Given the description of an element on the screen output the (x, y) to click on. 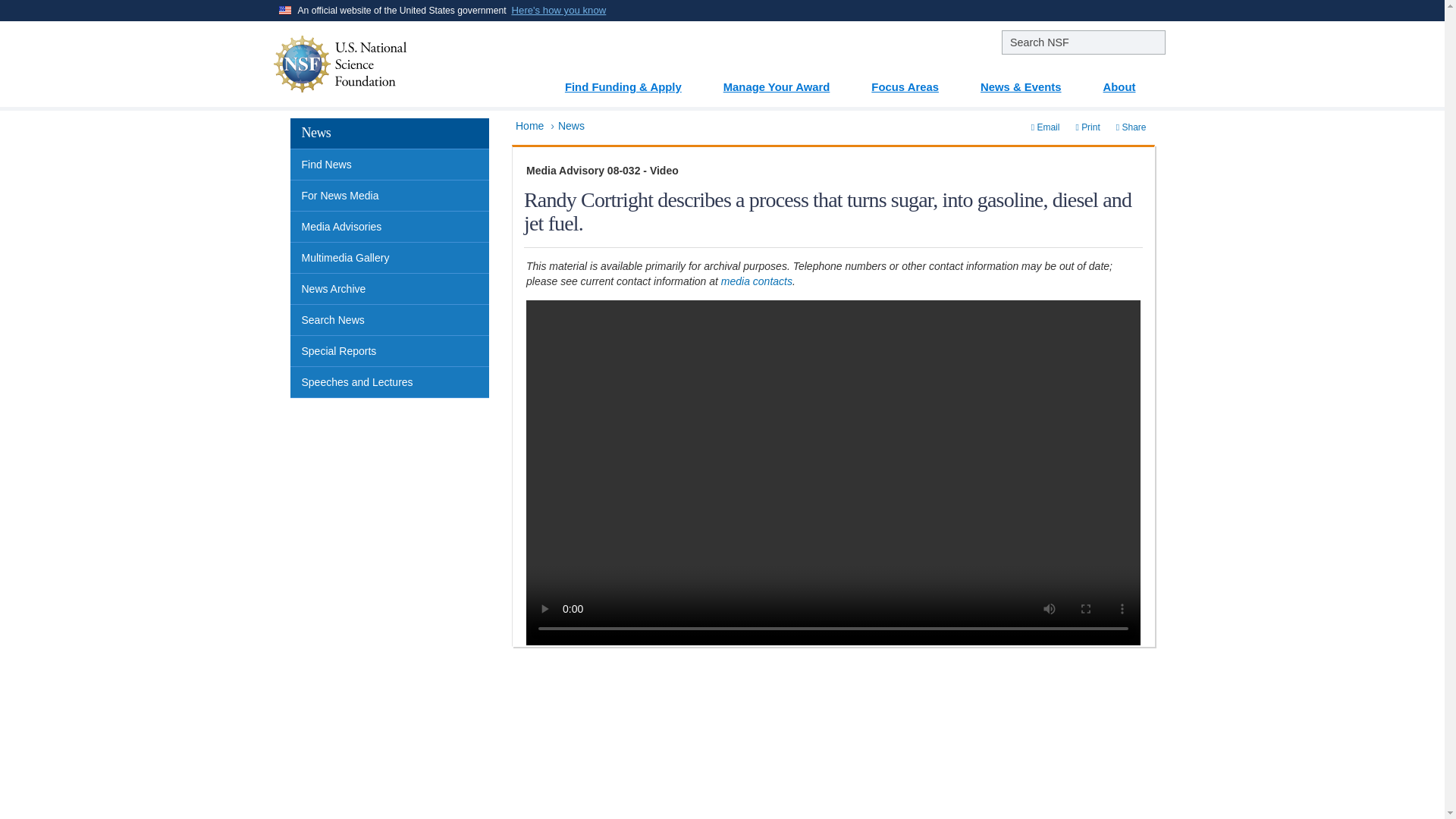
Here's how you know (559, 10)
Home (529, 125)
News Archive (389, 288)
NSF - National Science Foundation - Home (386, 64)
Share (1131, 127)
Speeches and Lectures (389, 382)
Media Advisories (389, 226)
Manage Your Award (785, 81)
About (1128, 81)
Find News (389, 164)
